Given the description of an element on the screen output the (x, y) to click on. 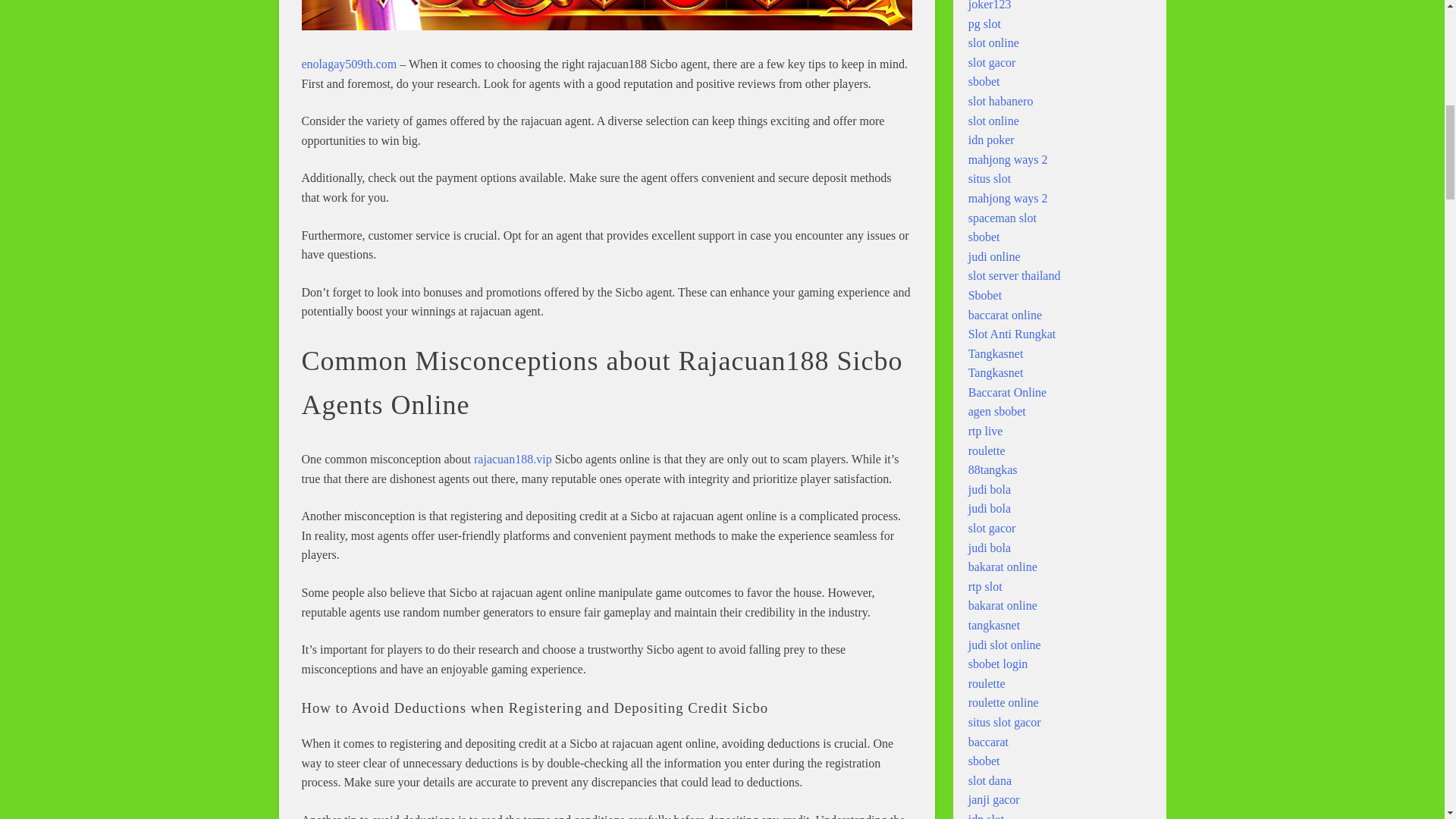
rajacuan188.vip (512, 459)
sbobet (984, 81)
Sbobet (984, 295)
slot server thailand (1014, 275)
Slot Anti Rungkat (1012, 333)
enolagay509th.com (349, 63)
baccarat online (1005, 314)
pg slot (984, 23)
slot online (993, 120)
mahjong ways 2 (1008, 159)
